Given the description of an element on the screen output the (x, y) to click on. 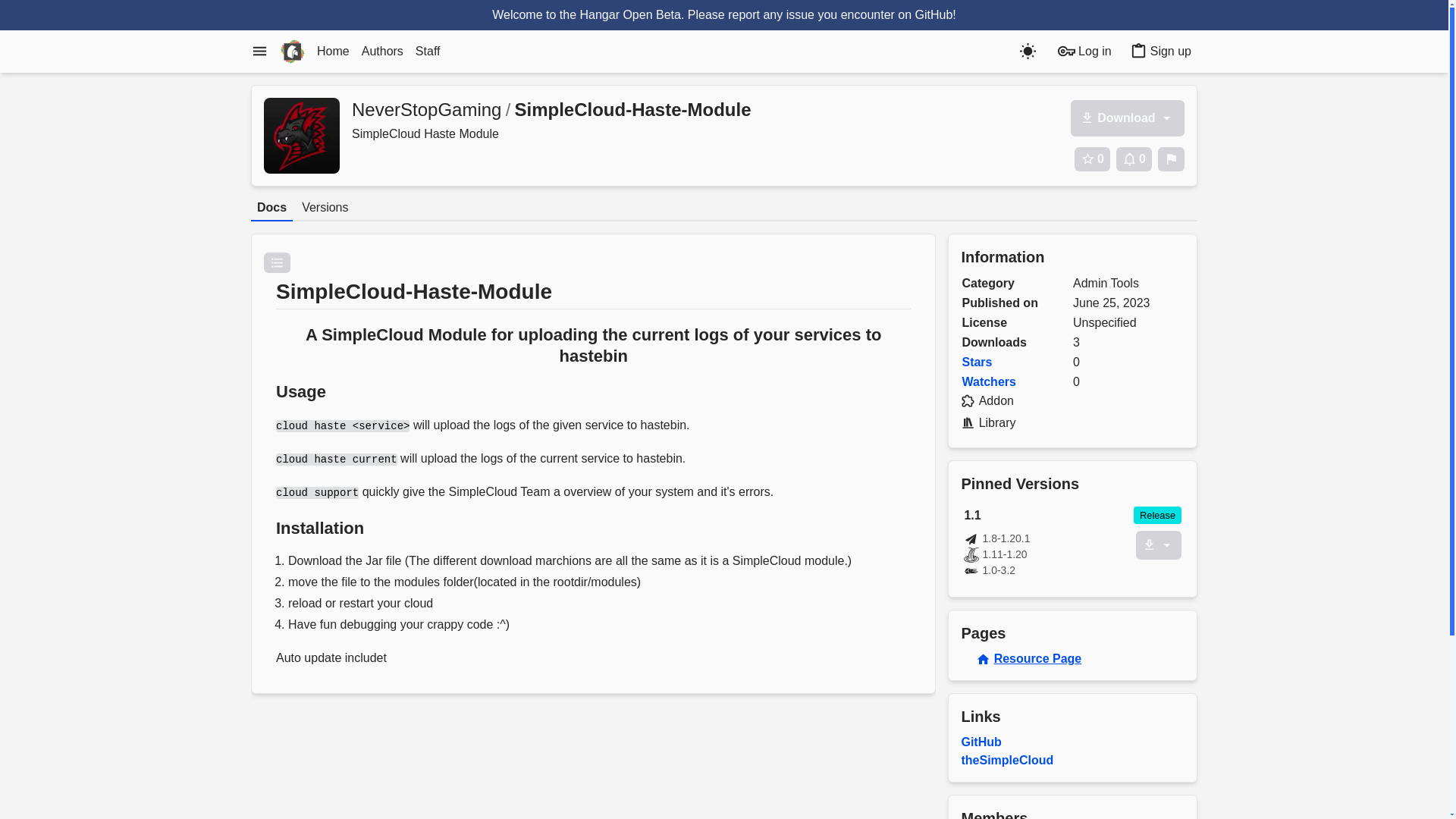
NeverStopGaming (301, 135)
Docs (271, 208)
The default channel (1157, 515)
NeverStopGaming (426, 109)
Versions (324, 208)
1.1 (1047, 515)
on GitHub (925, 14)
0 (1091, 159)
Download (1127, 117)
Staff (427, 51)
